Given the description of an element on the screen output the (x, y) to click on. 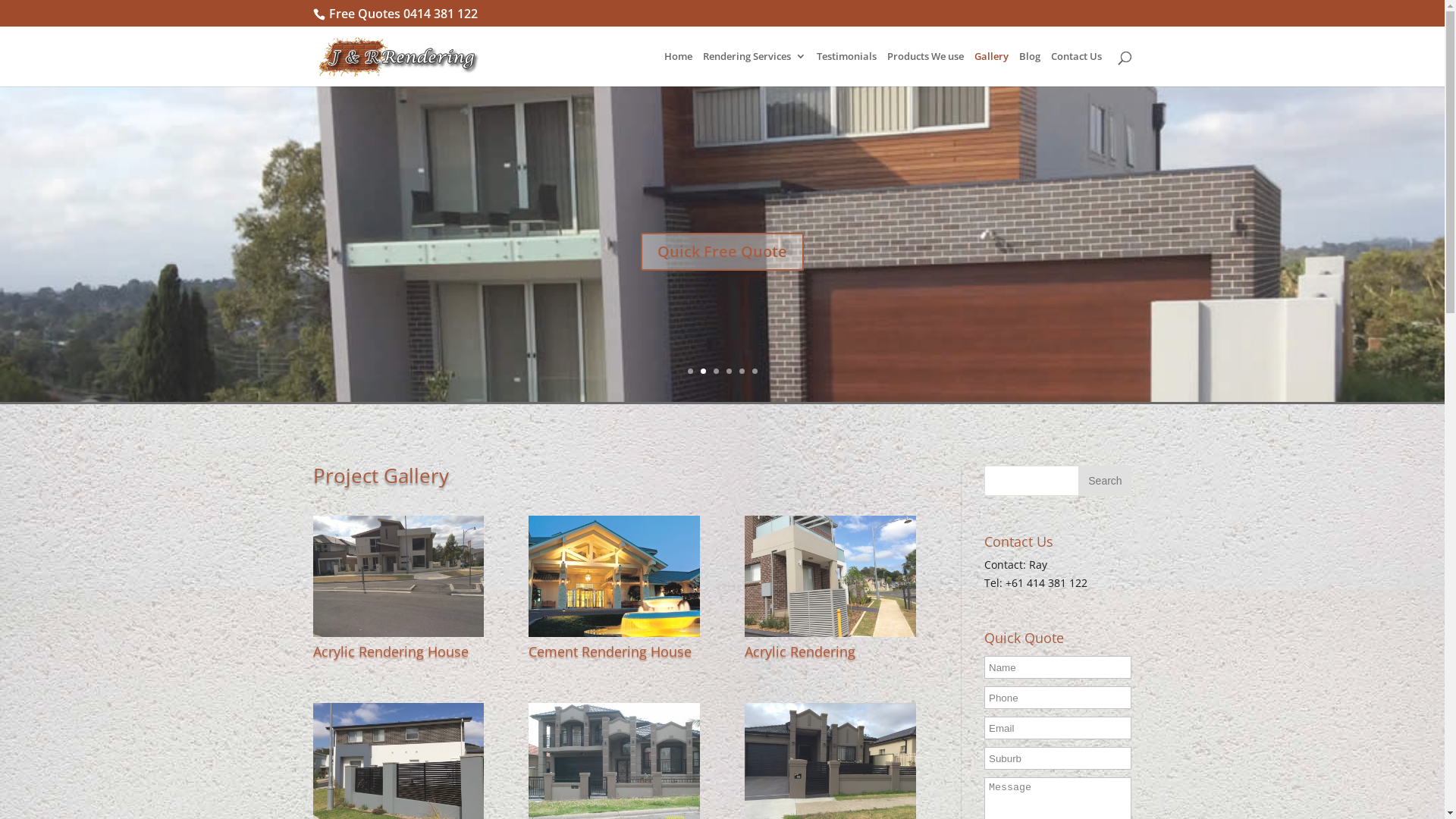
Acrylic Rendering Element type: hover (829, 576)
Contact Us Element type: text (1076, 68)
Acrylic Rendering House Element type: text (389, 651)
Free Quotes 0414 381 122 Element type: text (403, 13)
Cement Rendering House Element type: hover (613, 576)
5 Element type: text (740, 370)
1 Element type: text (689, 370)
Acrylic Rendering House Element type: hover (397, 576)
Products We use Element type: text (925, 68)
Search Element type: text (1104, 480)
Blog Element type: text (1029, 68)
Home Element type: text (678, 68)
3 Element type: text (715, 370)
6 Element type: text (754, 370)
4 Element type: text (728, 370)
Testimonials Element type: text (845, 68)
Acrylic Rendering Element type: text (799, 651)
Quick Free Quote Element type: text (721, 280)
2 Element type: text (703, 370)
+61 414 381 122 Element type: text (1046, 582)
Gallery Element type: text (990, 68)
Cement Rendering House Element type: text (609, 651)
Rendering Services Element type: text (753, 68)
